Given the description of an element on the screen output the (x, y) to click on. 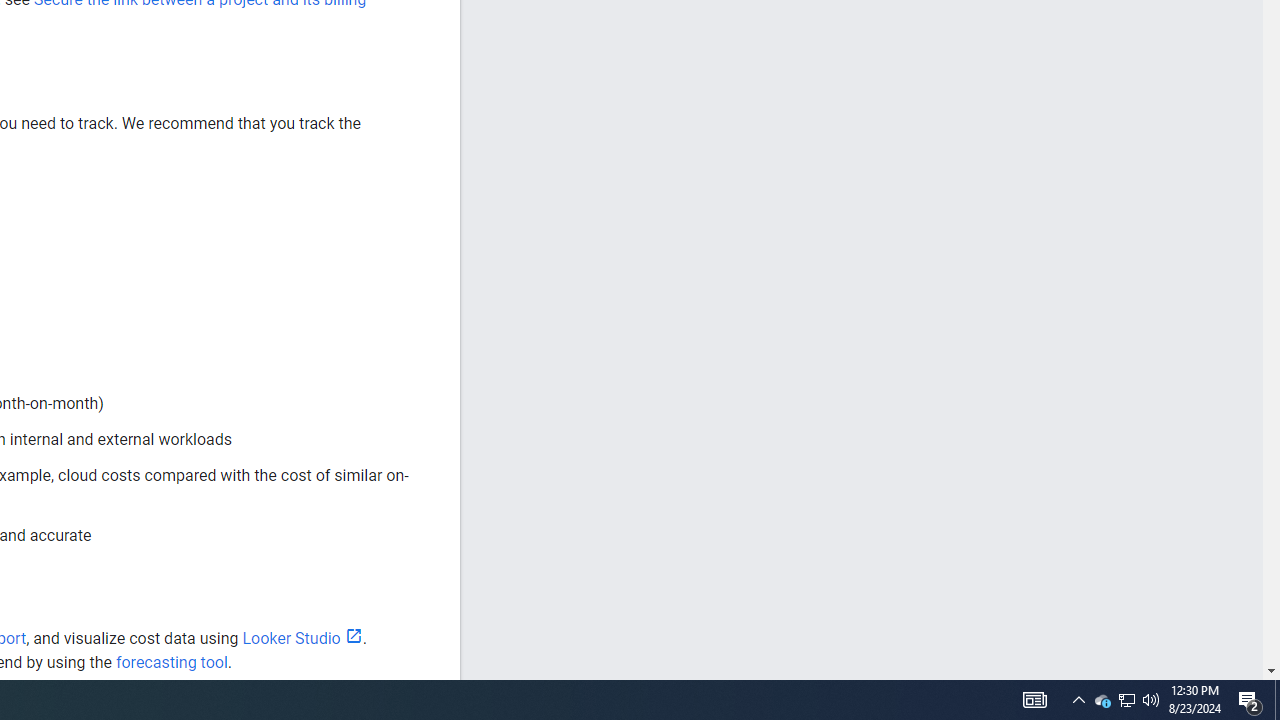
forecasting tool (171, 662)
Looker Studio (302, 638)
